Given the description of an element on the screen output the (x, y) to click on. 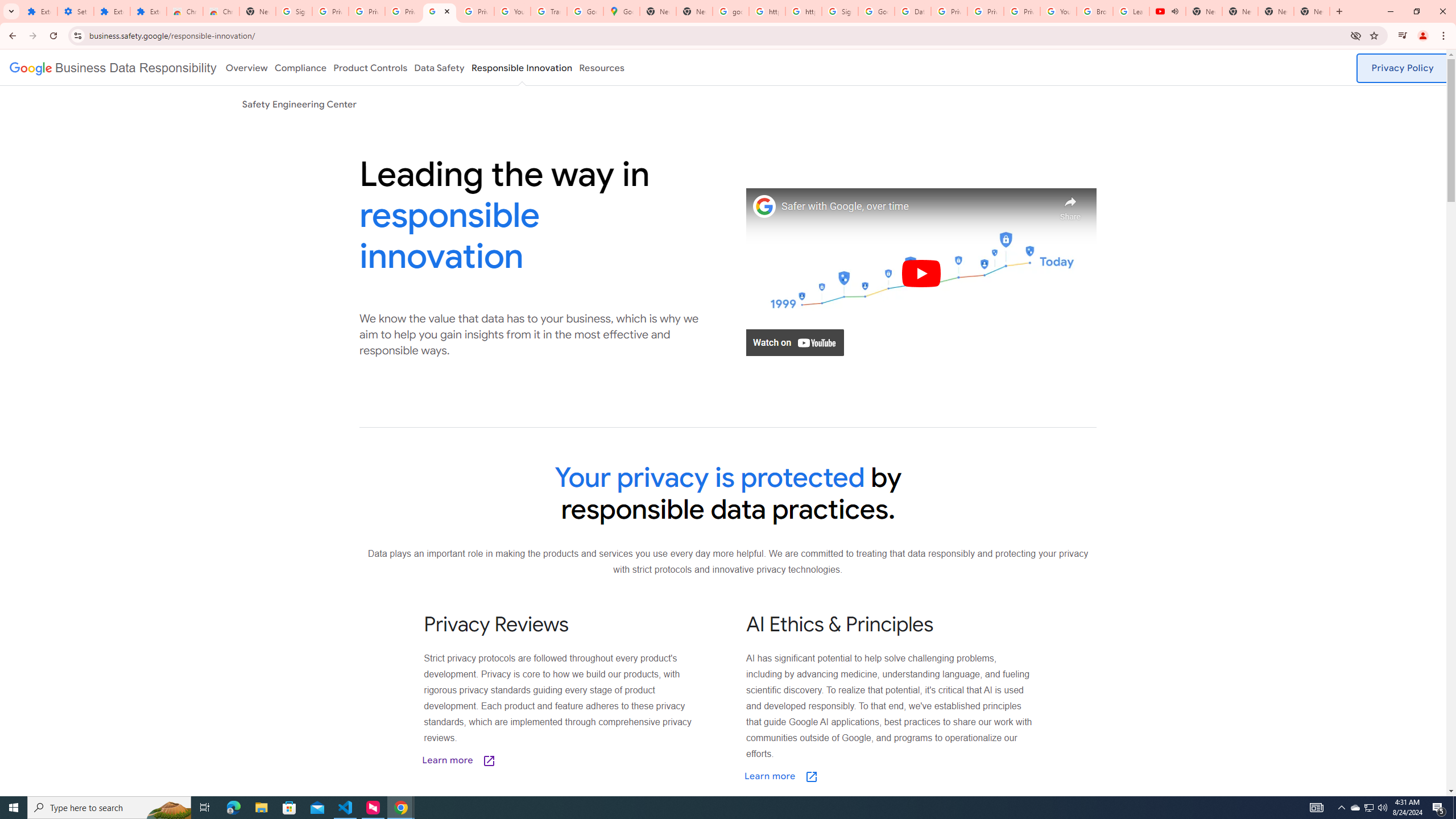
Extensions (148, 11)
Bookmark this tab (1373, 35)
Minimize (1390, 11)
Extensions (39, 11)
System (6, 6)
Close (446, 11)
https://scholar.google.com/ (803, 11)
New Tab (1338, 11)
Watch on YouTube (794, 342)
Search tabs (10, 11)
Control your music, videos, and more (1402, 35)
